Given the description of an element on the screen output the (x, y) to click on. 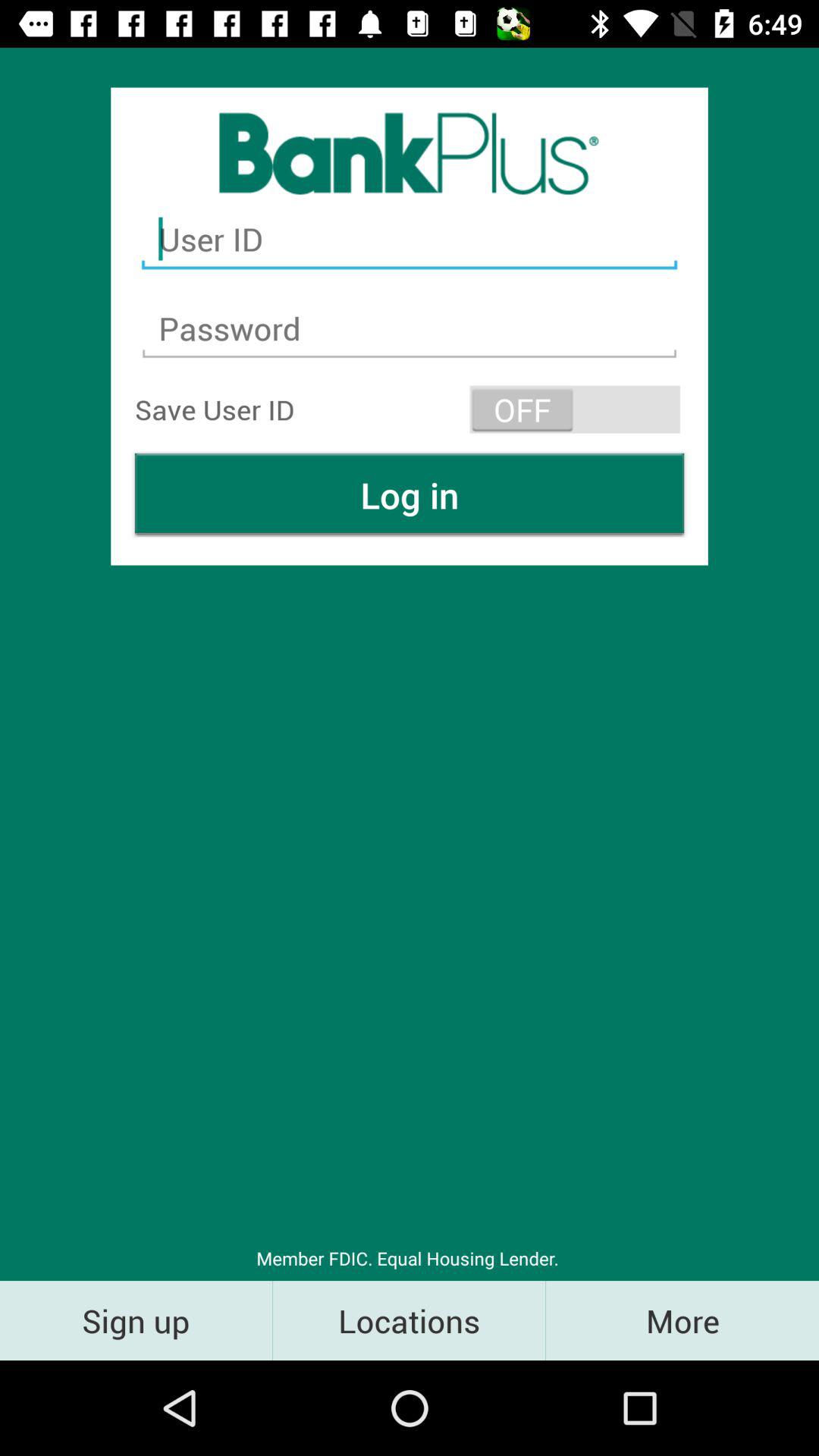
turn off icon below the member fdic equal (409, 1320)
